Given the description of an element on the screen output the (x, y) to click on. 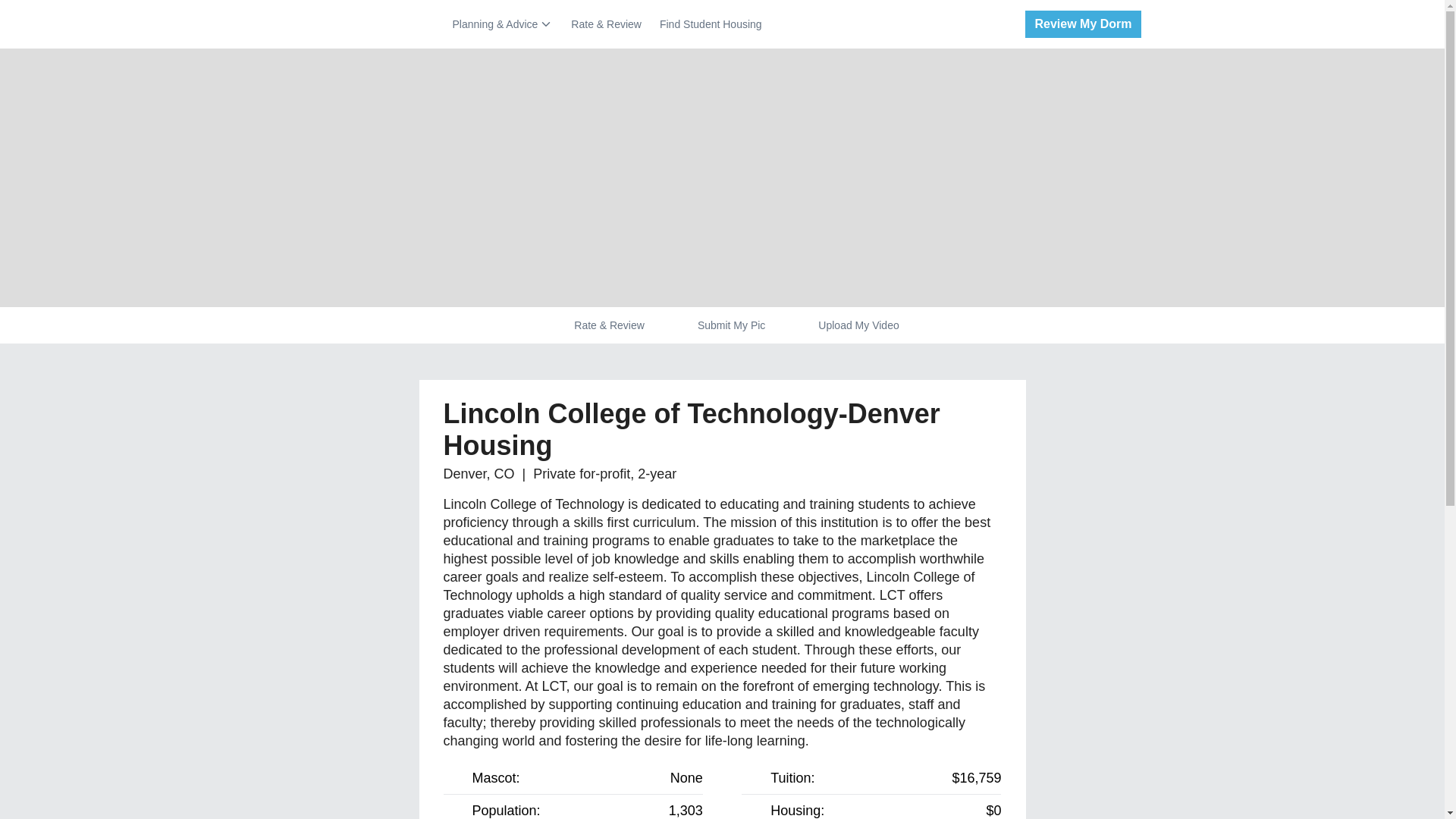
Submit My Pic (731, 324)
Upload My Video (858, 324)
Review My Dorm (1076, 23)
Find Student Housing (710, 24)
